Given the description of an element on the screen output the (x, y) to click on. 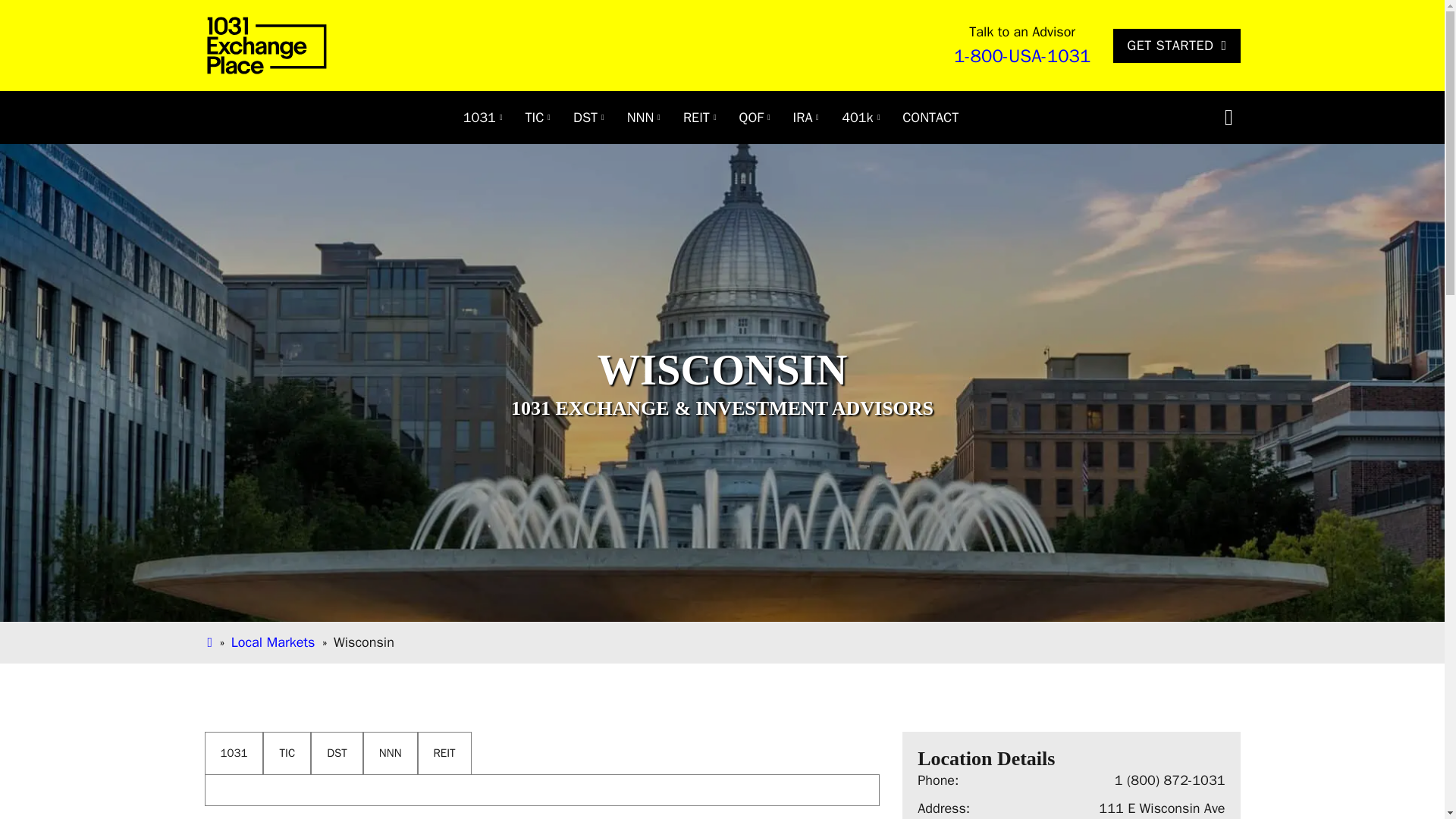
NNN (640, 117)
1-800-USA-1031 (1021, 55)
Delaware Statutory Trust (584, 117)
1031 Exchange Intermediary (479, 117)
GET STARTED (1176, 45)
1031 (479, 117)
Tenants In Common (534, 117)
Triple Net Lease (640, 117)
DST (584, 117)
TIC (534, 117)
